Given the description of an element on the screen output the (x, y) to click on. 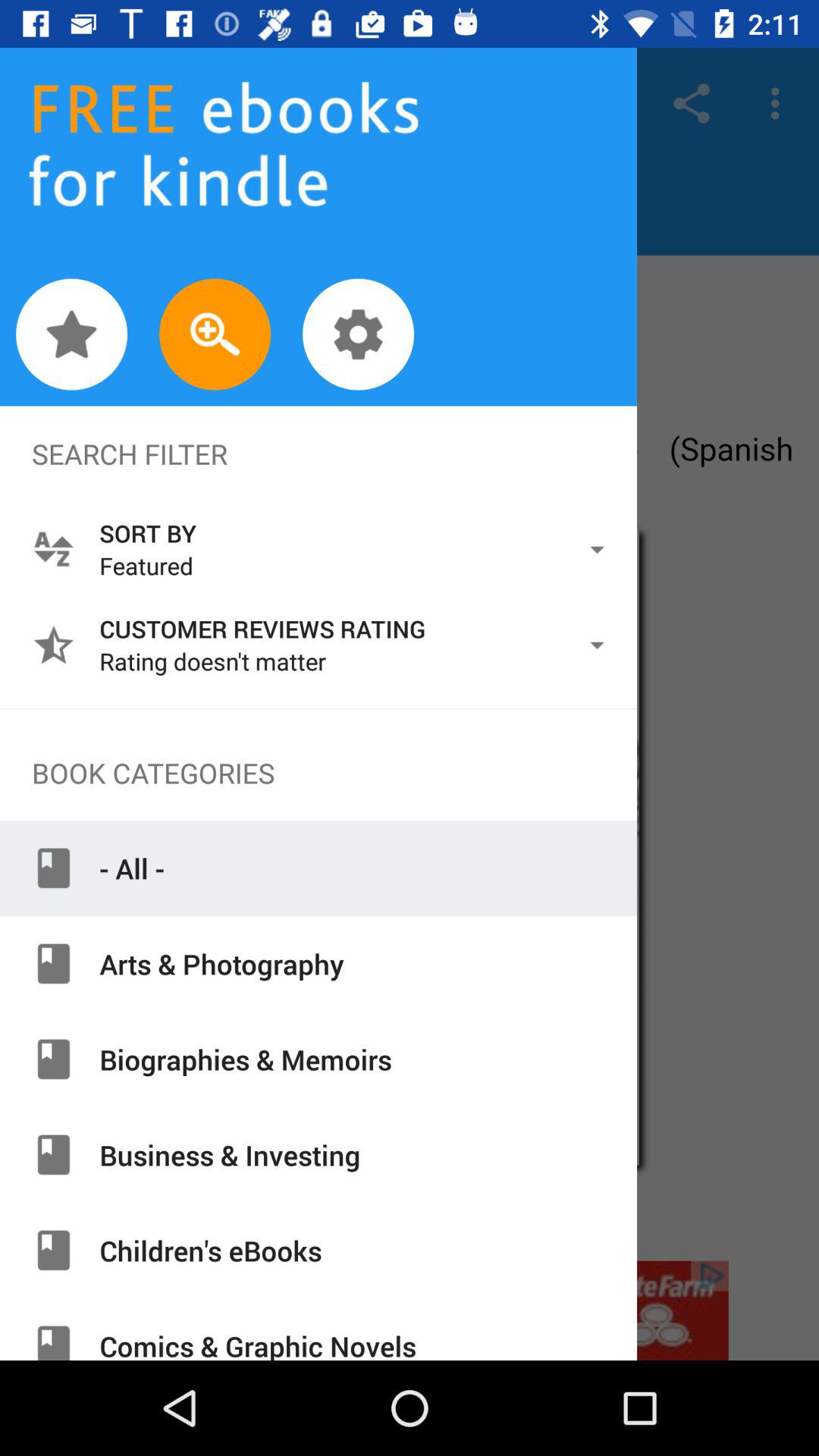
select category (409, 1310)
